Given the description of an element on the screen output the (x, y) to click on. 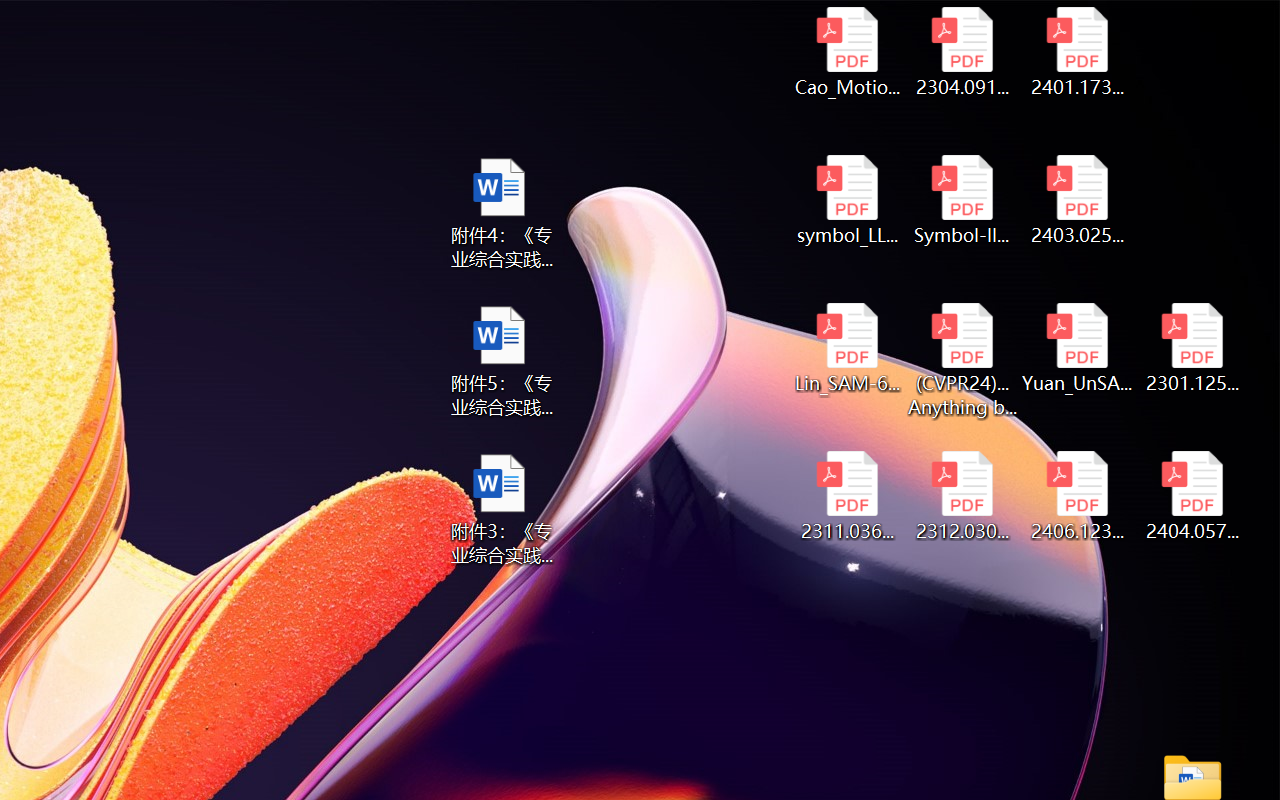
2403.02502v1.pdf (1077, 200)
2311.03658v2.pdf (846, 496)
(CVPR24)Matching Anything by Segmenting Anything.pdf (962, 360)
2301.12597v3.pdf (1192, 348)
2304.09121v3.pdf (962, 52)
Symbol-llm-v2.pdf (962, 200)
2404.05719v1.pdf (1192, 496)
2401.17399v1.pdf (1077, 52)
2406.12373v2.pdf (1077, 496)
